Given the description of an element on the screen output the (x, y) to click on. 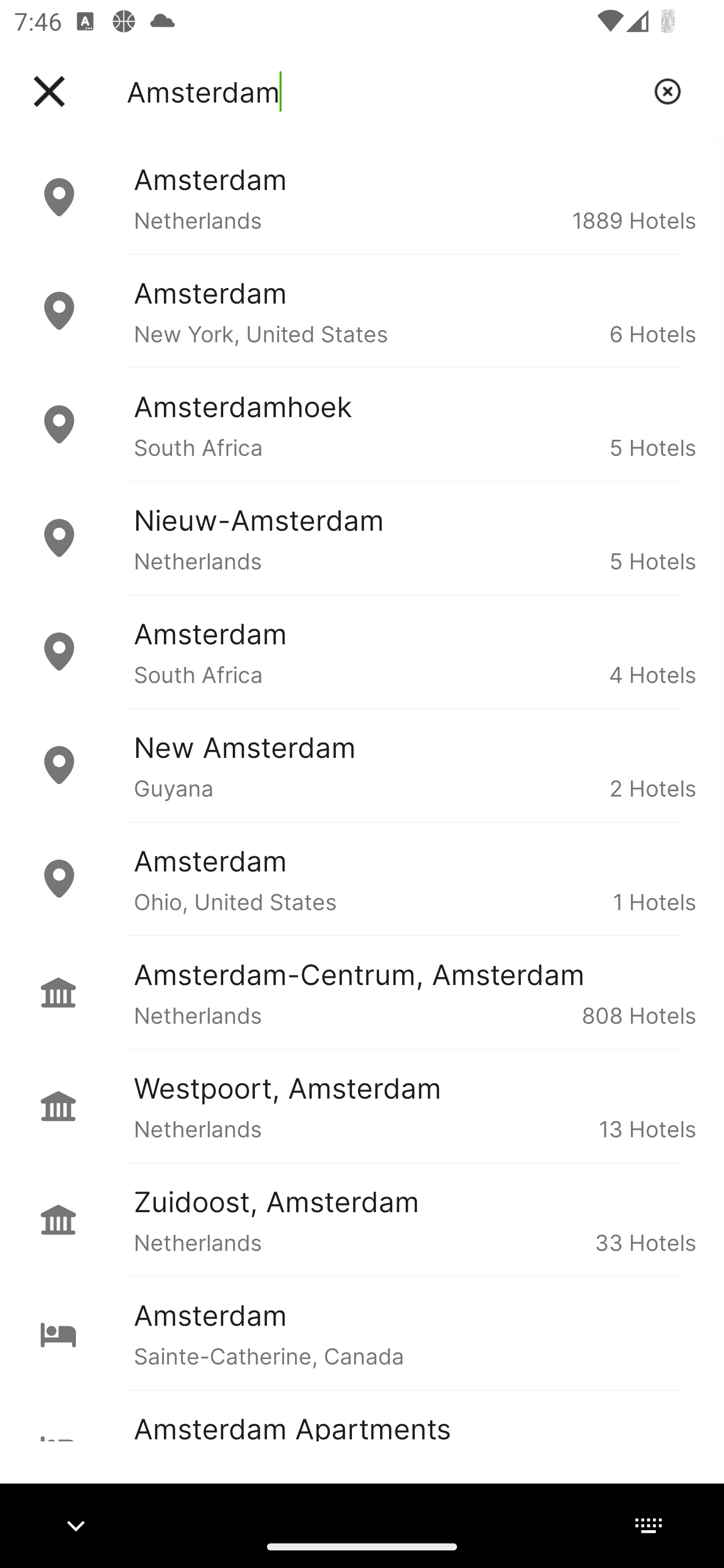
Amsterdam (382, 91)
Amsterdam Netherlands 1889 Hotels (362, 197)
Amsterdam New York, United States 6 Hotels (362, 310)
Amsterdamhoek South Africa 5 Hotels (362, 424)
Nieuw-Amsterdam Netherlands 5 Hotels (362, 537)
Amsterdam South Africa 4 Hotels (362, 651)
New Amsterdam Guyana 2 Hotels (362, 764)
Amsterdam Ohio, United States 1 Hotels (362, 878)
Westpoort, Amsterdam Netherlands 13 Hotels (362, 1105)
Zuidoost, Amsterdam Netherlands 33 Hotels (362, 1219)
Amsterdam Sainte-Catherine, Canada (362, 1332)
